Given the description of an element on the screen output the (x, y) to click on. 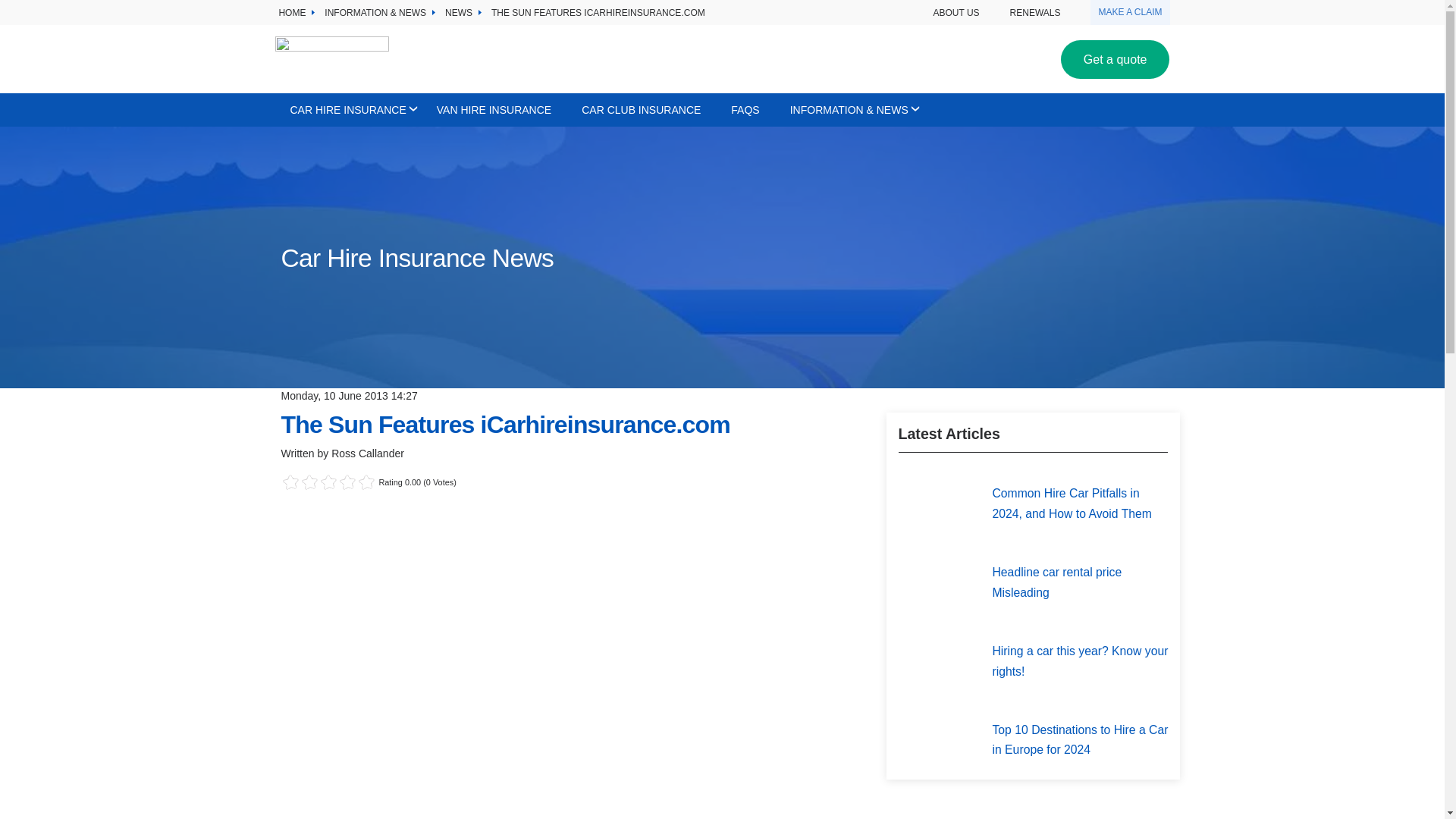
NEWS (458, 13)
MAKE A CLAIM (1129, 12)
2.5 out of 5 (305, 482)
3 out of 5 (309, 482)
Get a quote (1115, 59)
ABOUT US (955, 12)
1 (309, 482)
HOME (291, 13)
1 (305, 482)
VAN HIRE INSURANCE (494, 109)
